Given the description of an element on the screen output the (x, y) to click on. 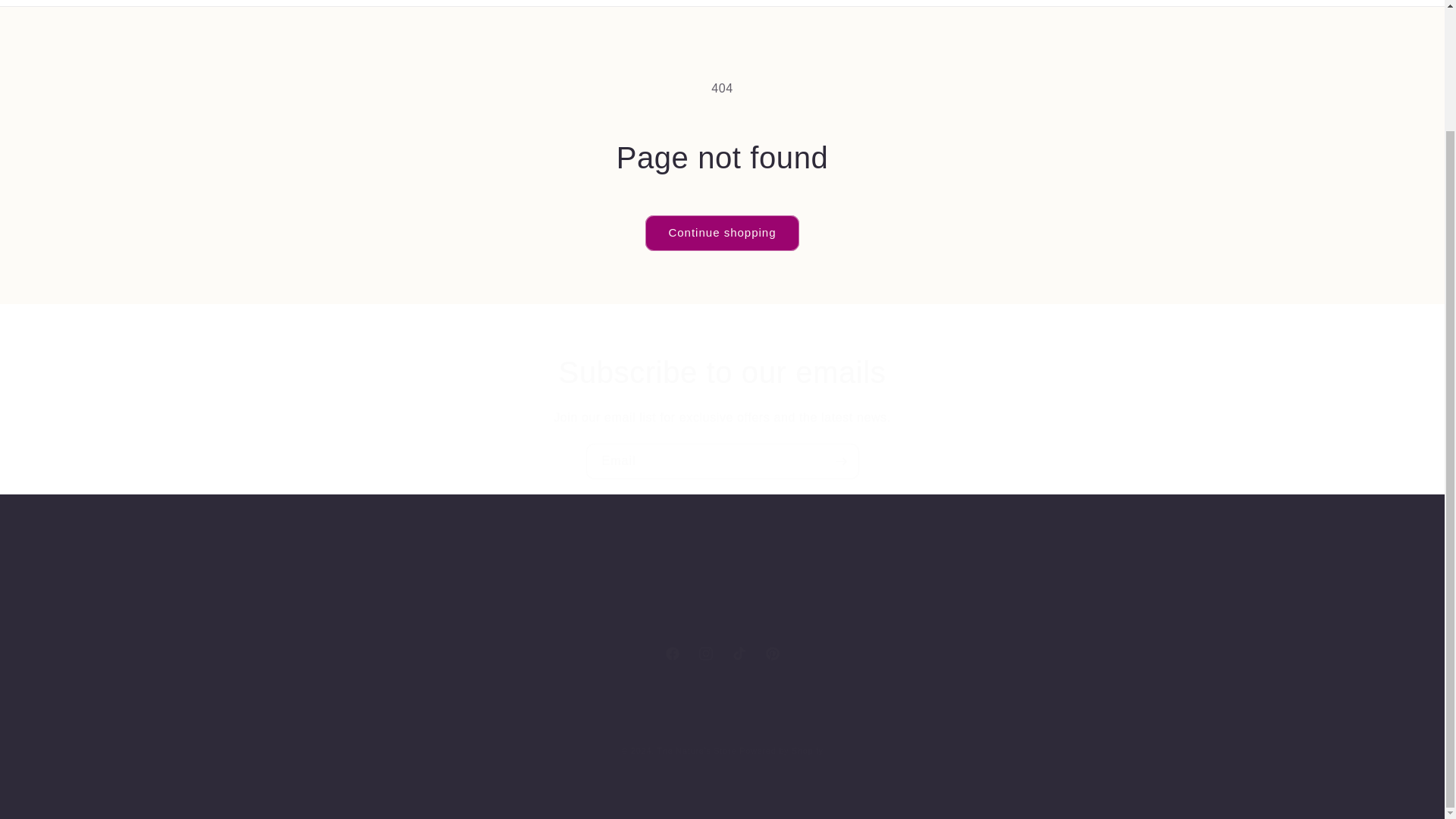
Email (722, 461)
Subscribe to our emails (721, 372)
